Given the description of an element on the screen output the (x, y) to click on. 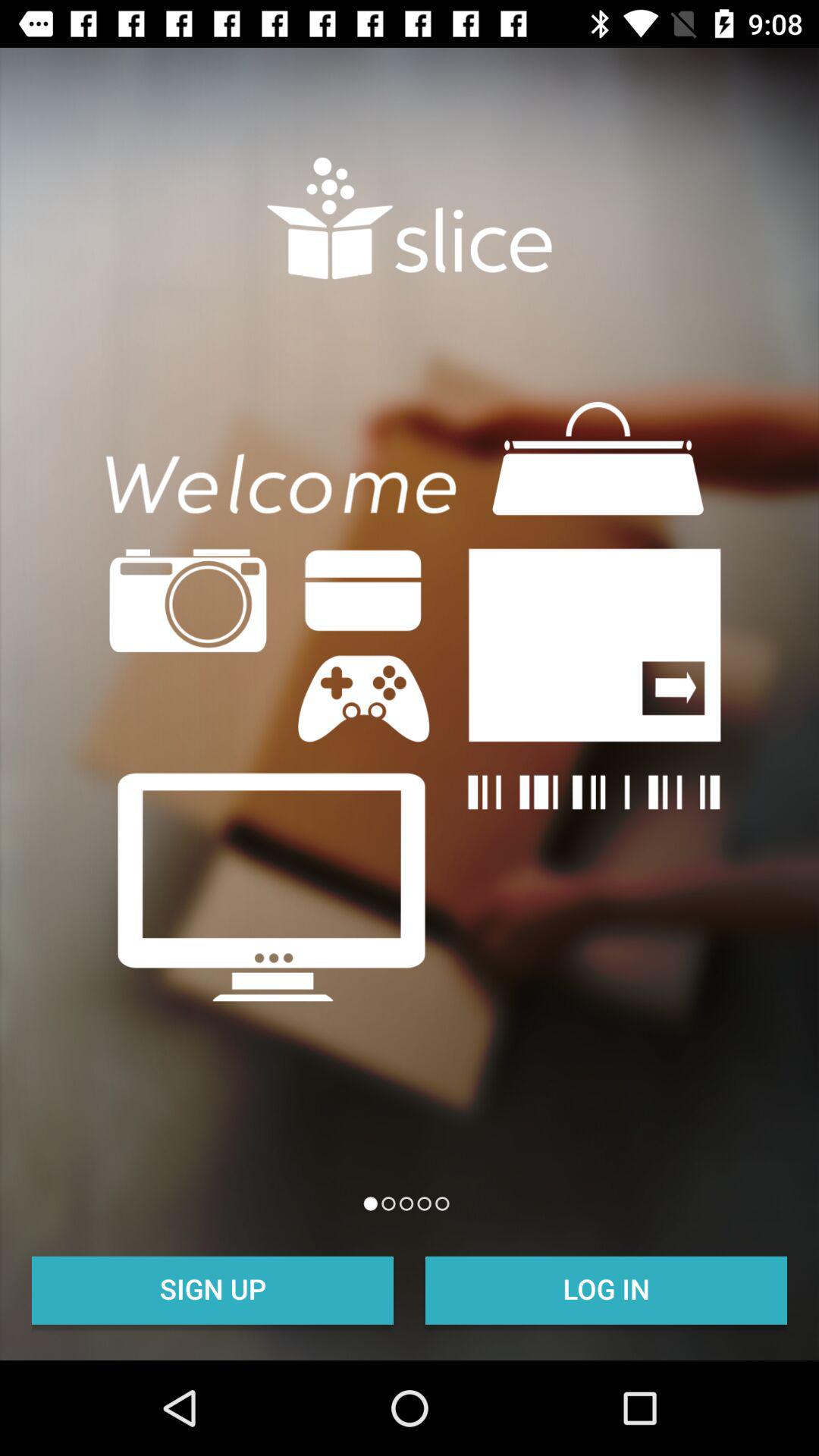
press log in item (606, 1288)
